Given the description of an element on the screen output the (x, y) to click on. 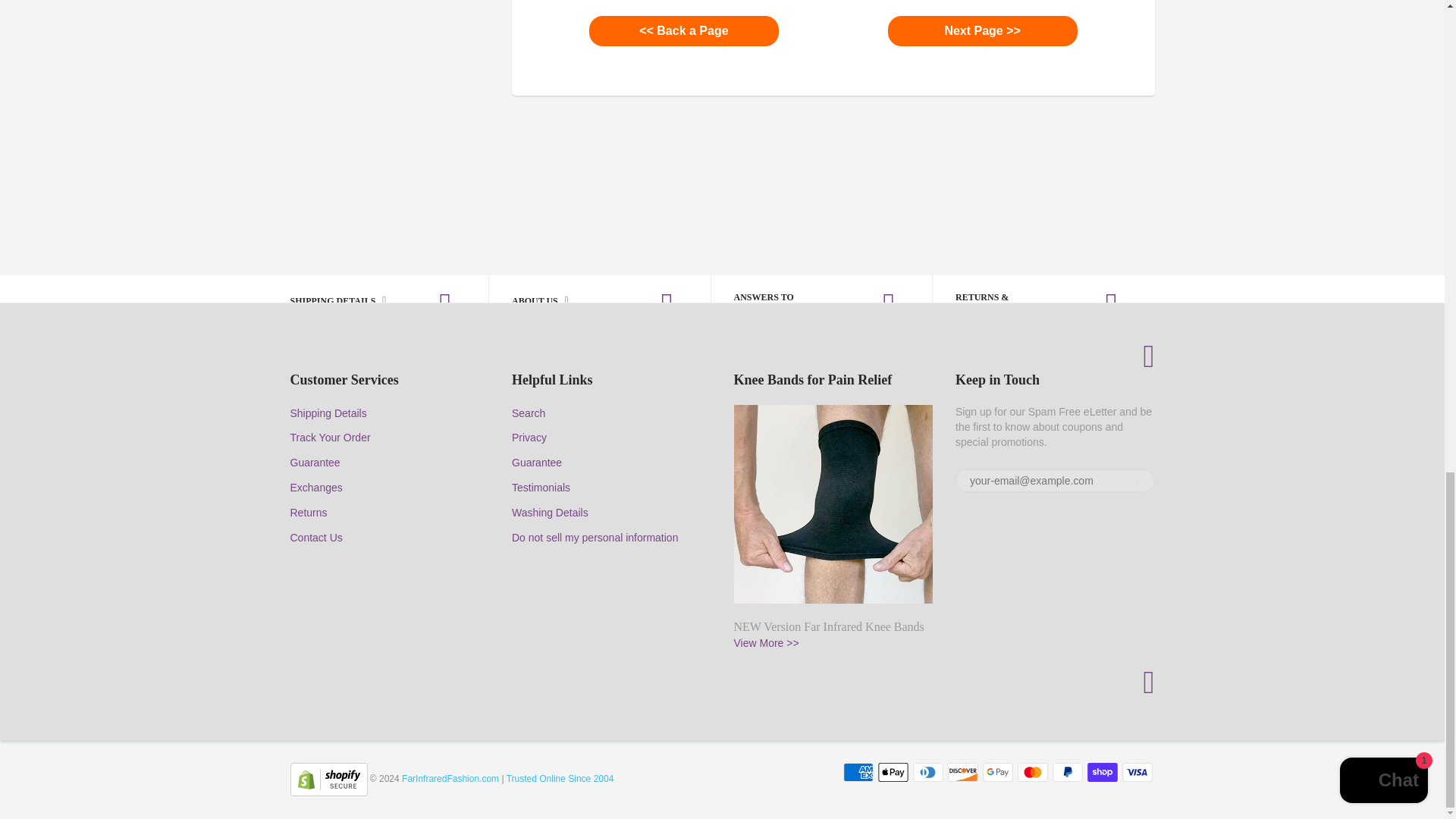
Symptoms of  Lyme Disease (683, 30)
Treatment of Lyme Disease (982, 30)
This online store is secured by Shopify (327, 778)
